Given the description of an element on the screen output the (x, y) to click on. 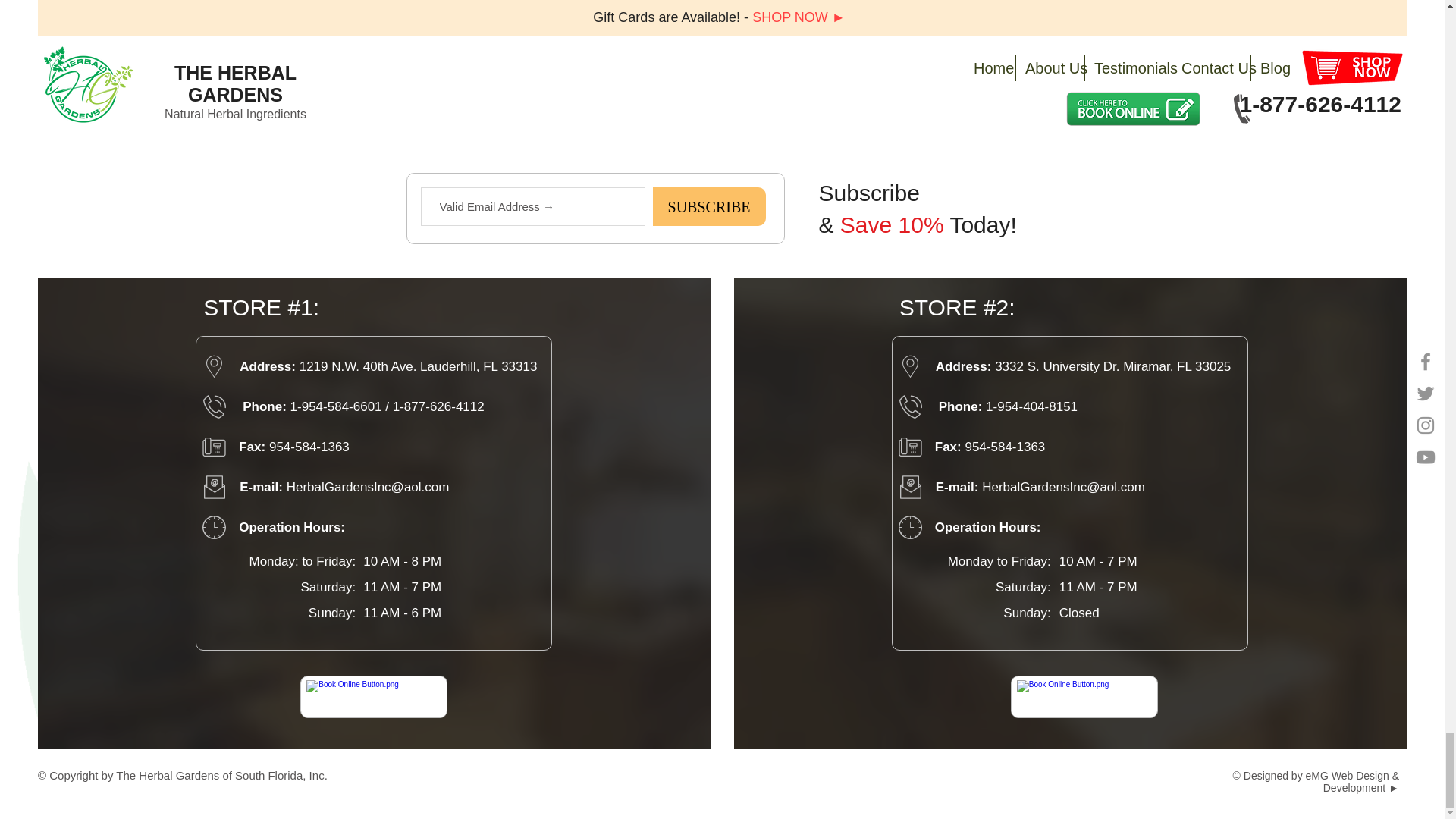
1-954-584-6601 (335, 406)
SUBSCRIBE (708, 206)
1-877-626-4112 (438, 406)
THE HERBAL GARDENS (722, 59)
E-mail: (958, 486)
1-954-404-8151 (1031, 406)
